Given the description of an element on the screen output the (x, y) to click on. 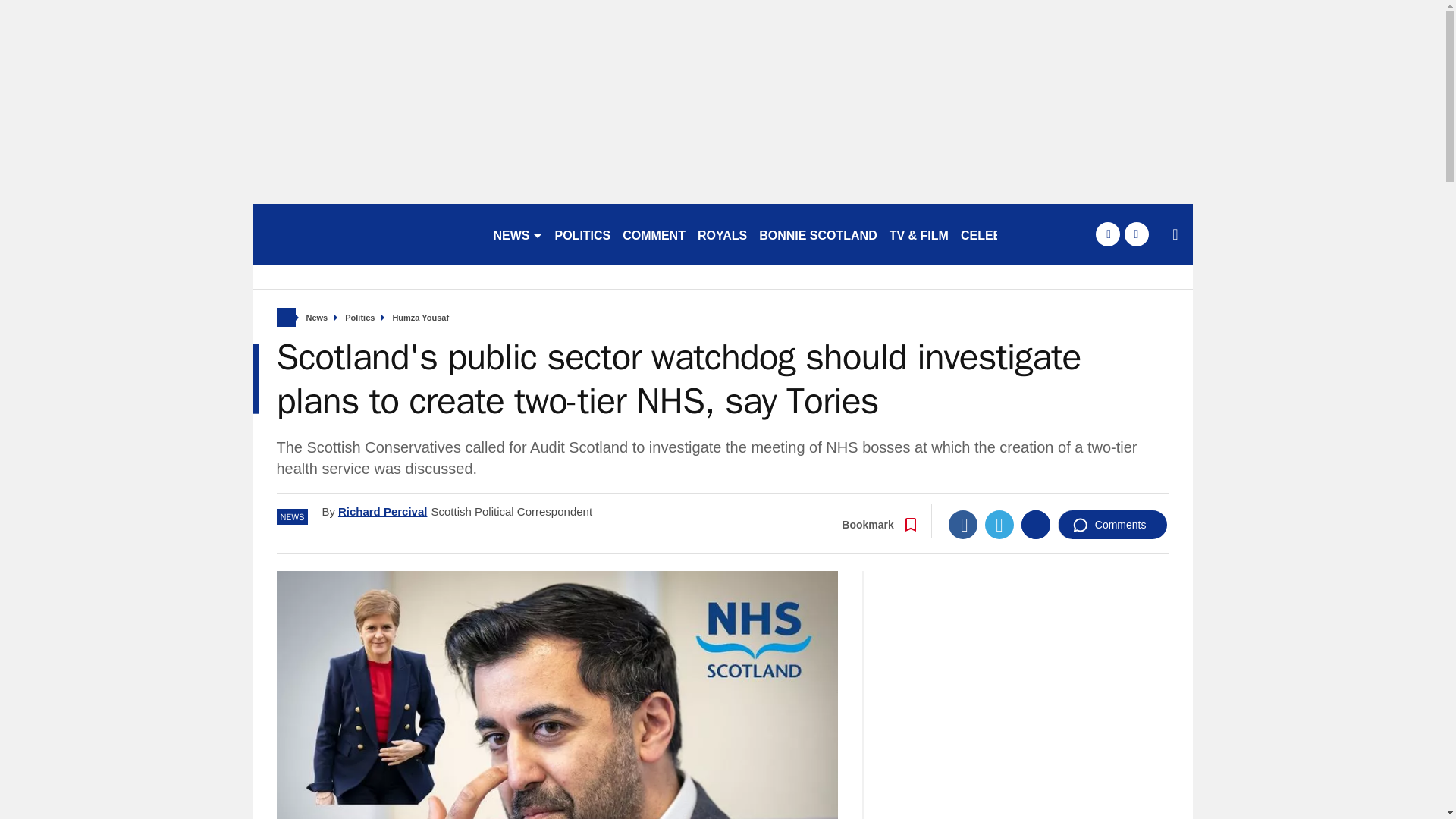
CELEBS (985, 233)
BONNIE SCOTLAND (817, 233)
Twitter (999, 524)
POLITICS (582, 233)
scottishdailyexpress (365, 233)
ROYALS (721, 233)
NEWS (517, 233)
facebook (1106, 233)
twitter (1136, 233)
COMMENT (653, 233)
